Given the description of an element on the screen output the (x, y) to click on. 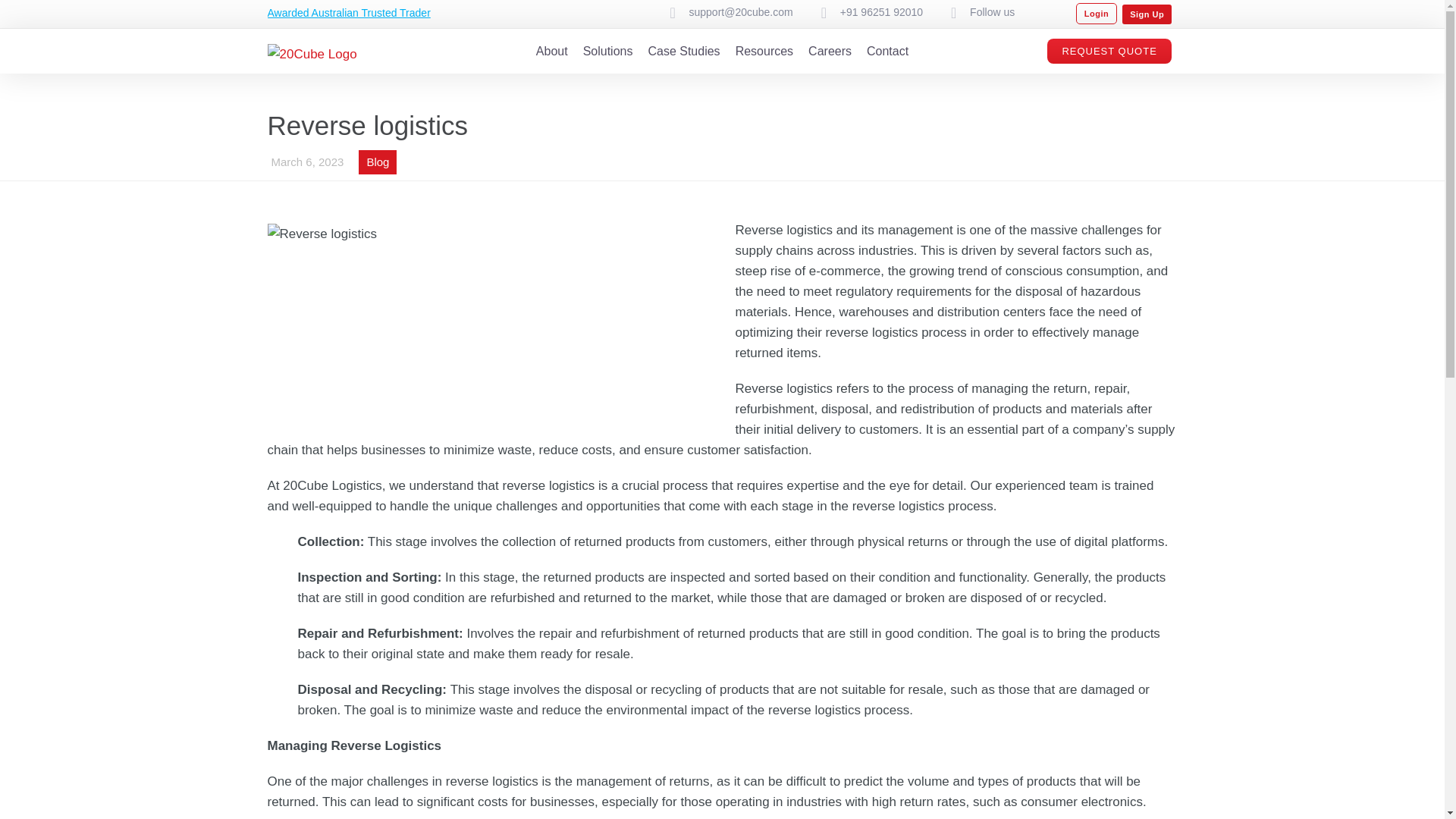
Careers (829, 51)
Solutions (608, 51)
Follow us (991, 11)
Case Studies (683, 51)
Awarded Australian Trusted Trader (347, 12)
Resources (764, 51)
Login (1095, 13)
Sign Up (1147, 14)
20Cube Logo (311, 54)
About (551, 51)
Contact (887, 51)
